Given the description of an element on the screen output the (x, y) to click on. 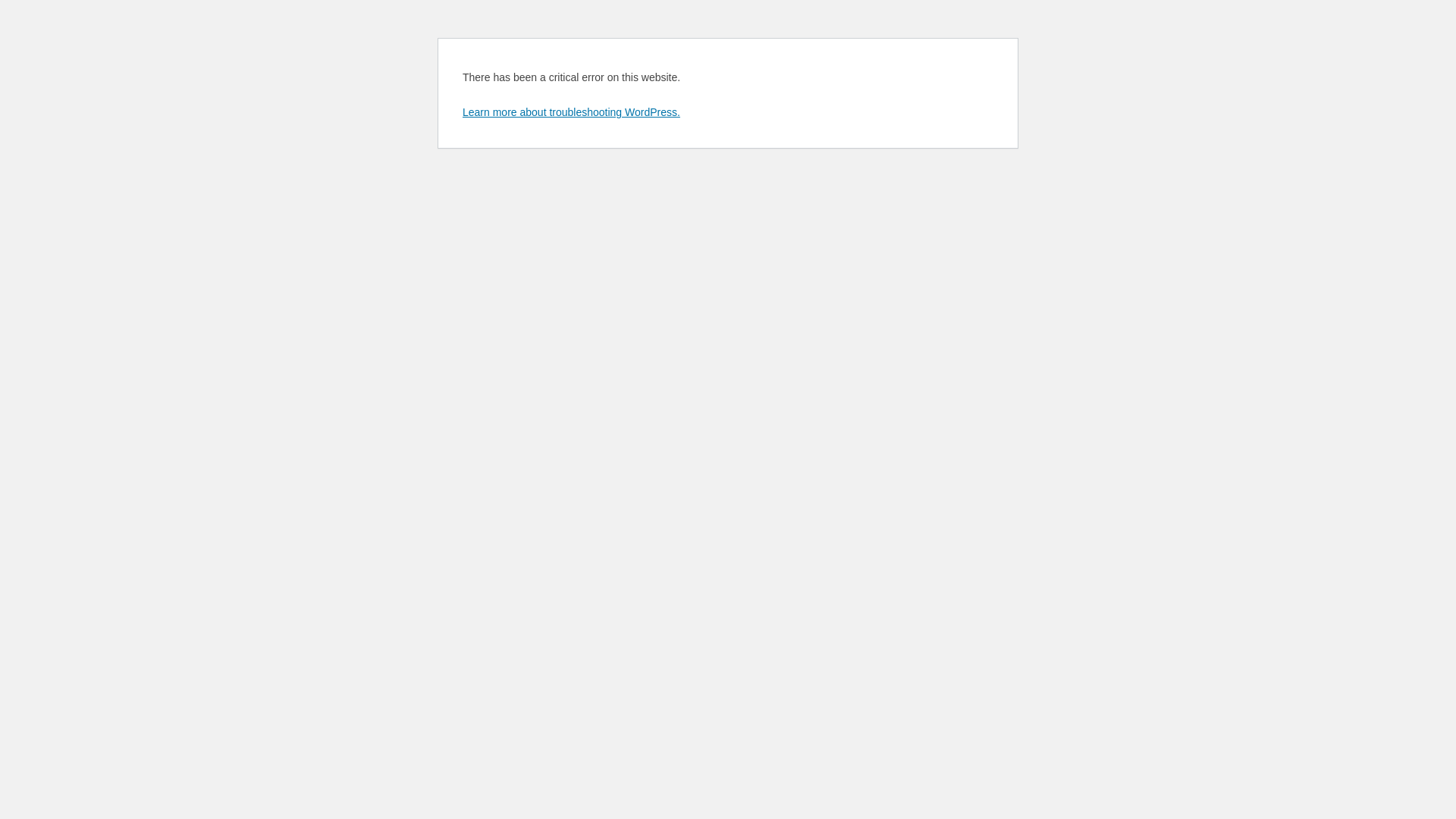
Learn more about troubleshooting WordPress. Element type: text (571, 112)
